Given the description of an element on the screen output the (x, y) to click on. 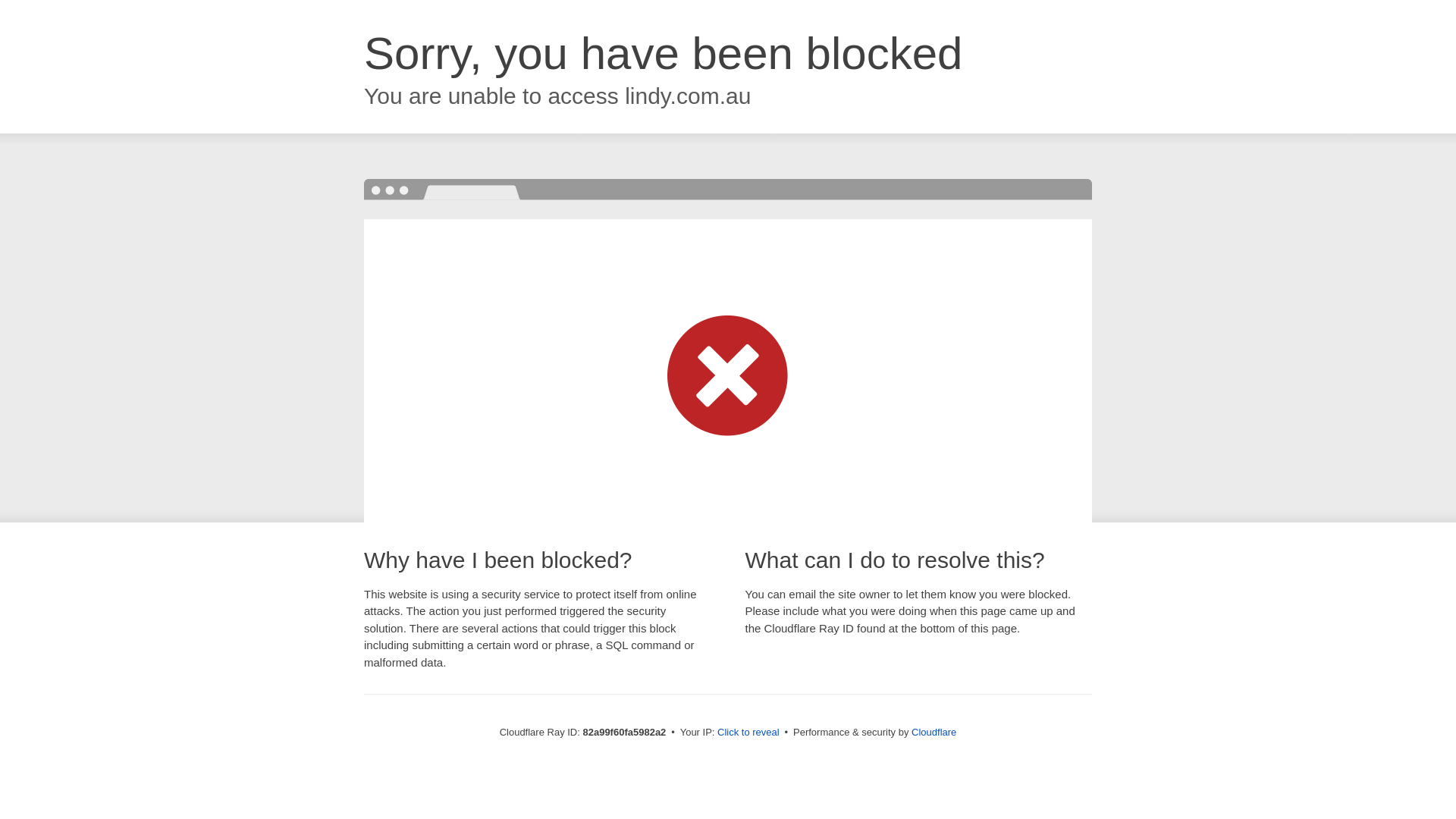
Cloudflare Element type: text (933, 731)
Click to reveal Element type: text (748, 732)
